Given the description of an element on the screen output the (x, y) to click on. 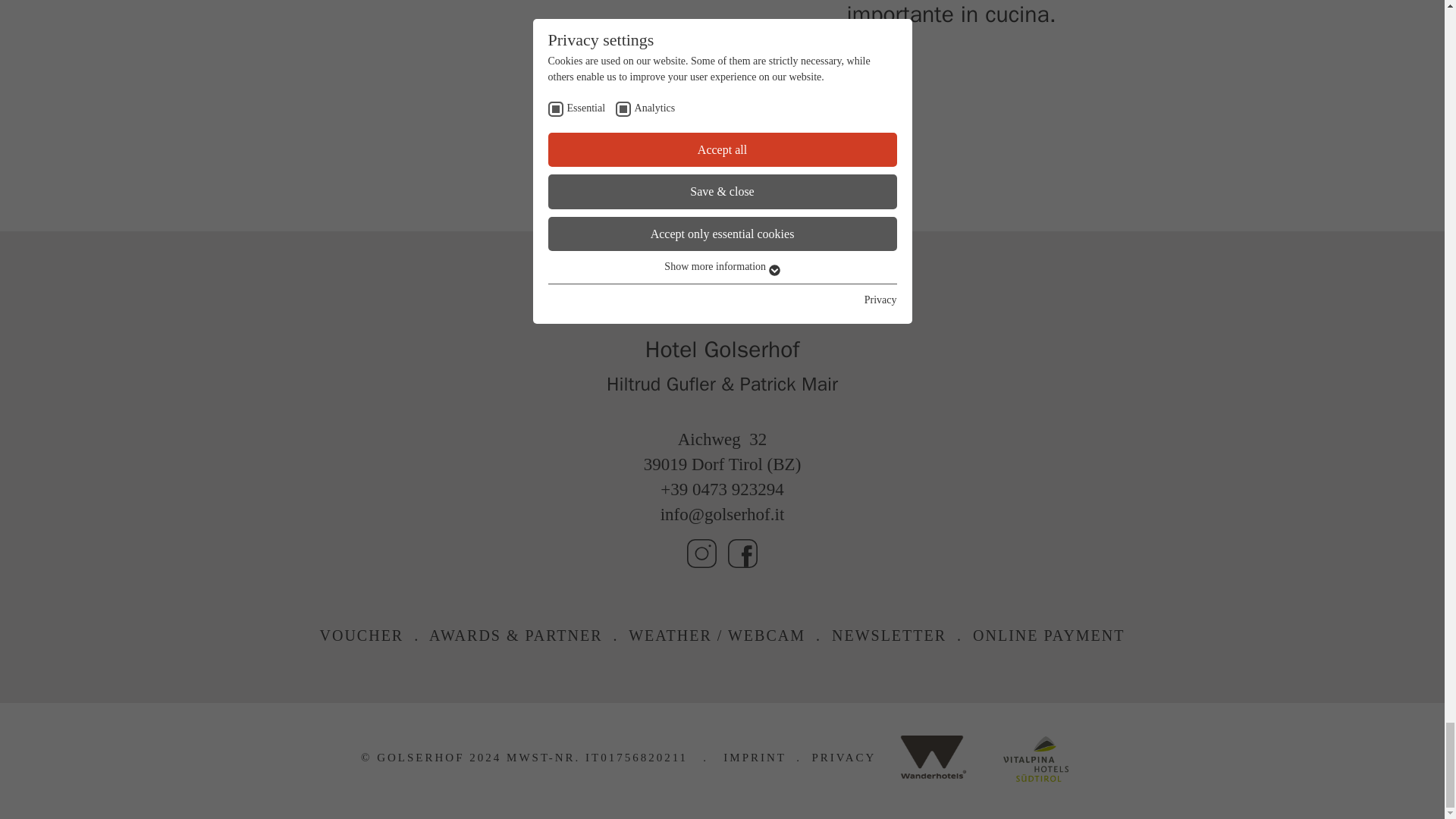
Voucher (362, 635)
Privacy (844, 757)
Imprint (754, 757)
Online Payment (1048, 635)
Newsletter (888, 635)
